Given the description of an element on the screen output the (x, y) to click on. 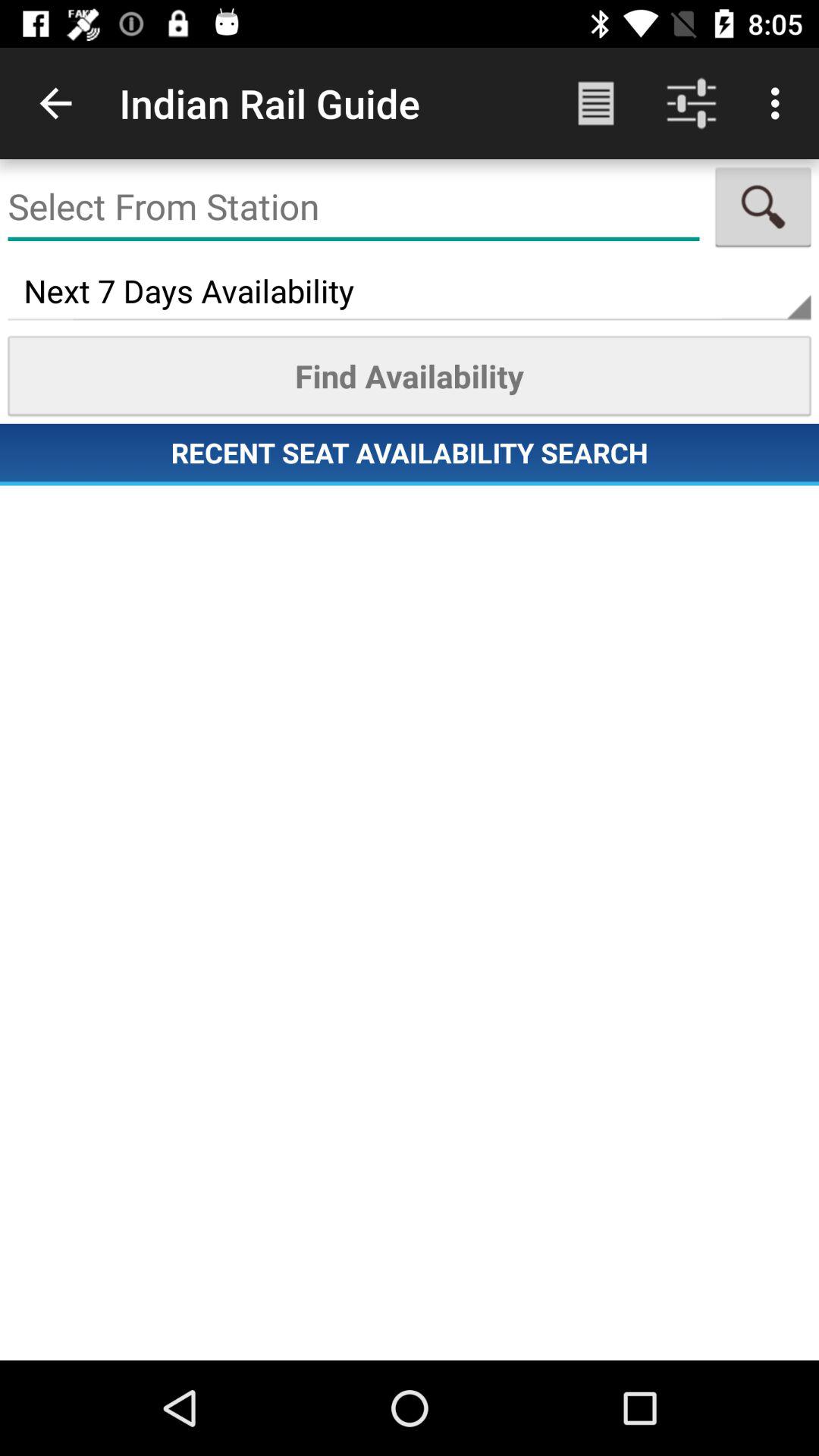
choose the icon below next 7 days icon (409, 375)
